Given the description of an element on the screen output the (x, y) to click on. 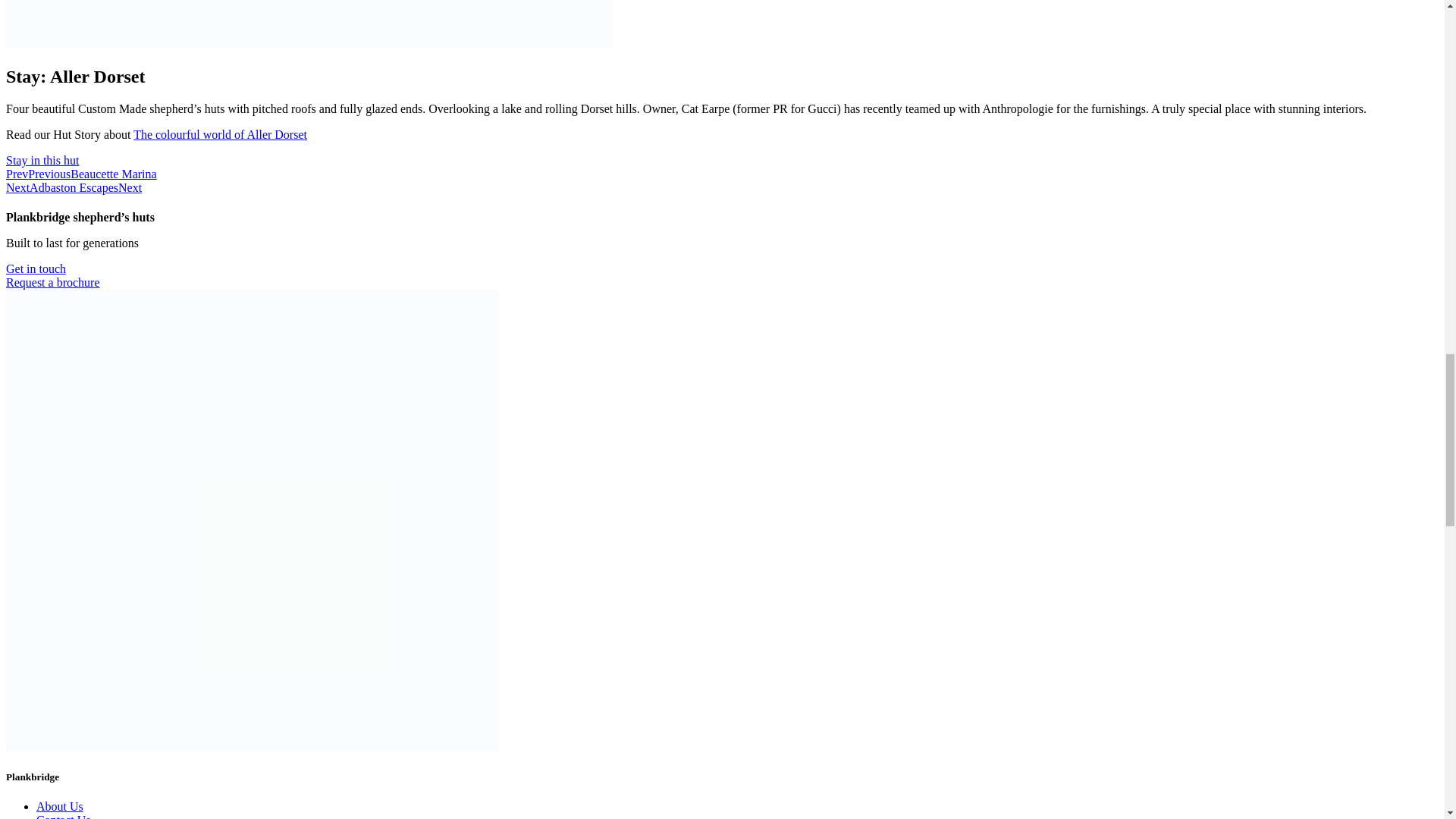
Hut Stories: The colourful world of Aller Dorset (220, 133)
